Given the description of an element on the screen output the (x, y) to click on. 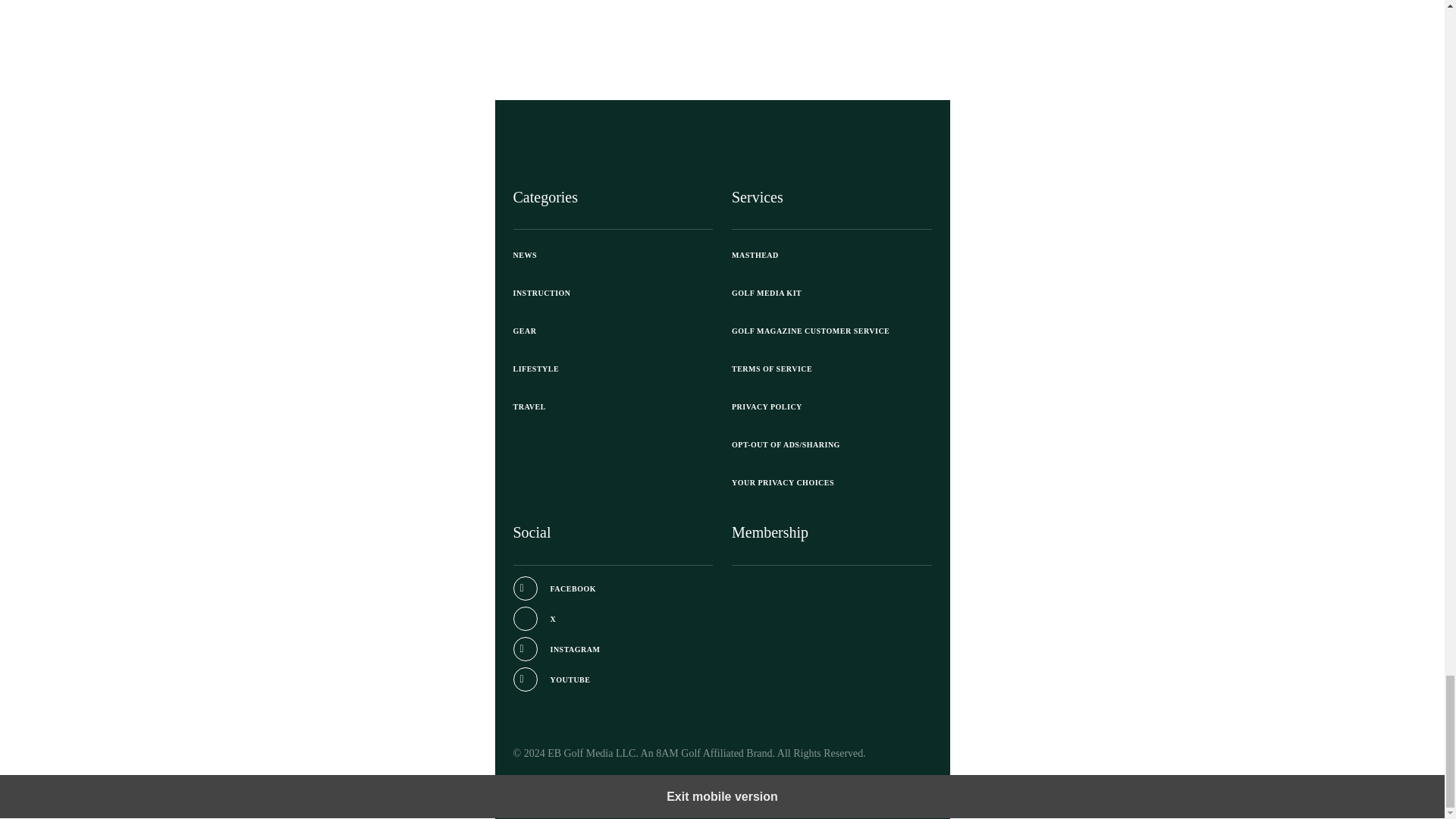
GEAR (612, 331)
YOUR PRIVACY CHOICES (831, 482)
TRAVEL (612, 406)
NEWS (612, 255)
TERMS OF SERVICE (831, 369)
YOUTUBE (550, 679)
X (534, 619)
FACEBOOK (553, 588)
GOLF MEDIA KIT (831, 293)
LIFESTYLE (612, 369)
GOLF MAGAZINE CUSTOMER SERVICE (831, 331)
PRIVACY POLICY (831, 406)
INSTRUCTION (612, 293)
MASTHEAD (831, 255)
INSTAGRAM (555, 649)
